Given the description of an element on the screen output the (x, y) to click on. 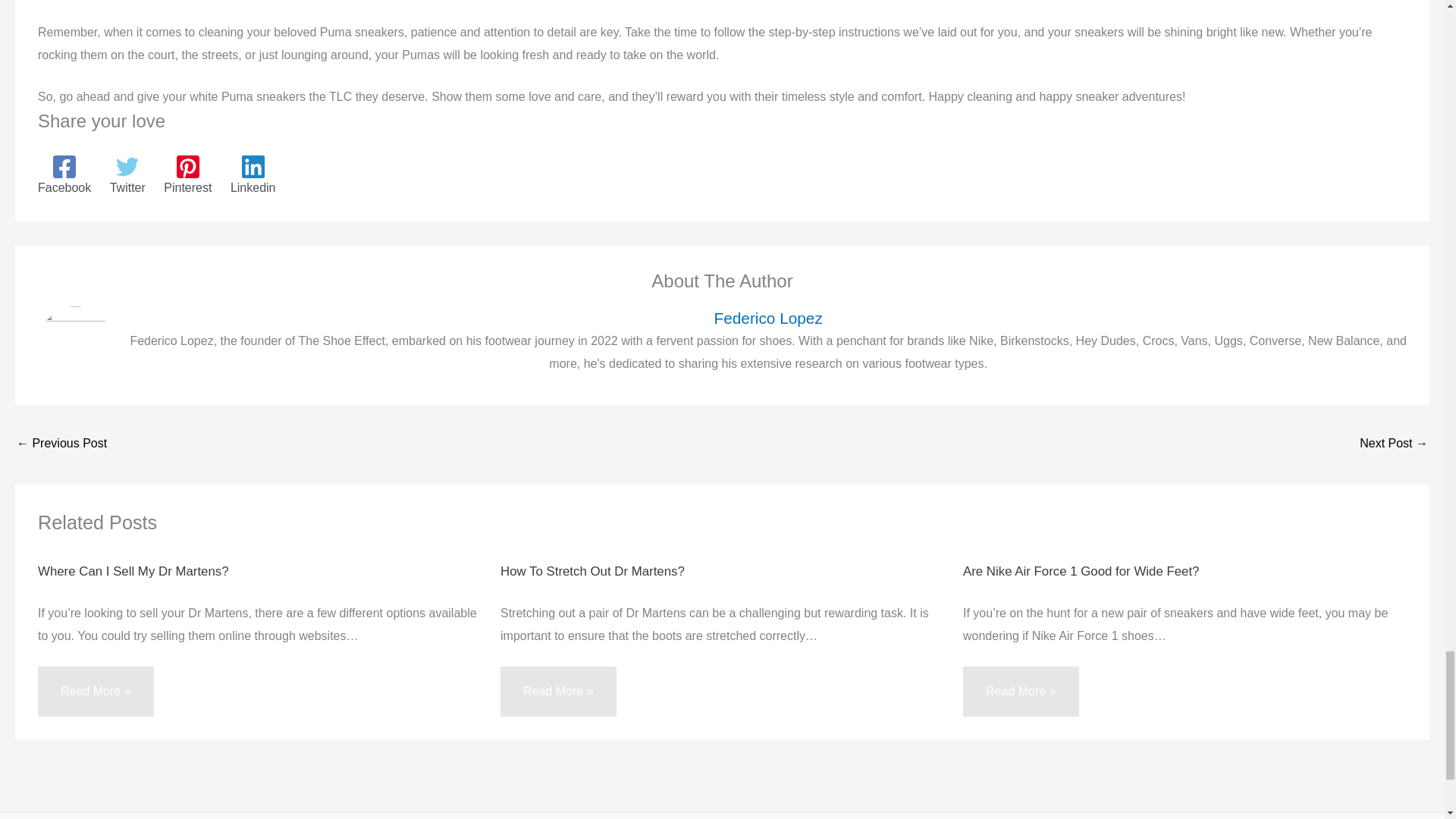
Facebook (63, 174)
Linkedin (253, 174)
Are Nike Air Force 1 Good for Wide Feet? (1080, 571)
Glassy Wedge Style: Burberry Glass Wedge Shoe (61, 444)
Pinterest (187, 174)
Why Are Reebok Stores Closing? (1393, 444)
Federico Lopez (767, 318)
How To Stretch Out Dr Martens? (592, 571)
Twitter (127, 174)
Where Can I Sell My Dr Martens? (132, 571)
